Given the description of an element on the screen output the (x, y) to click on. 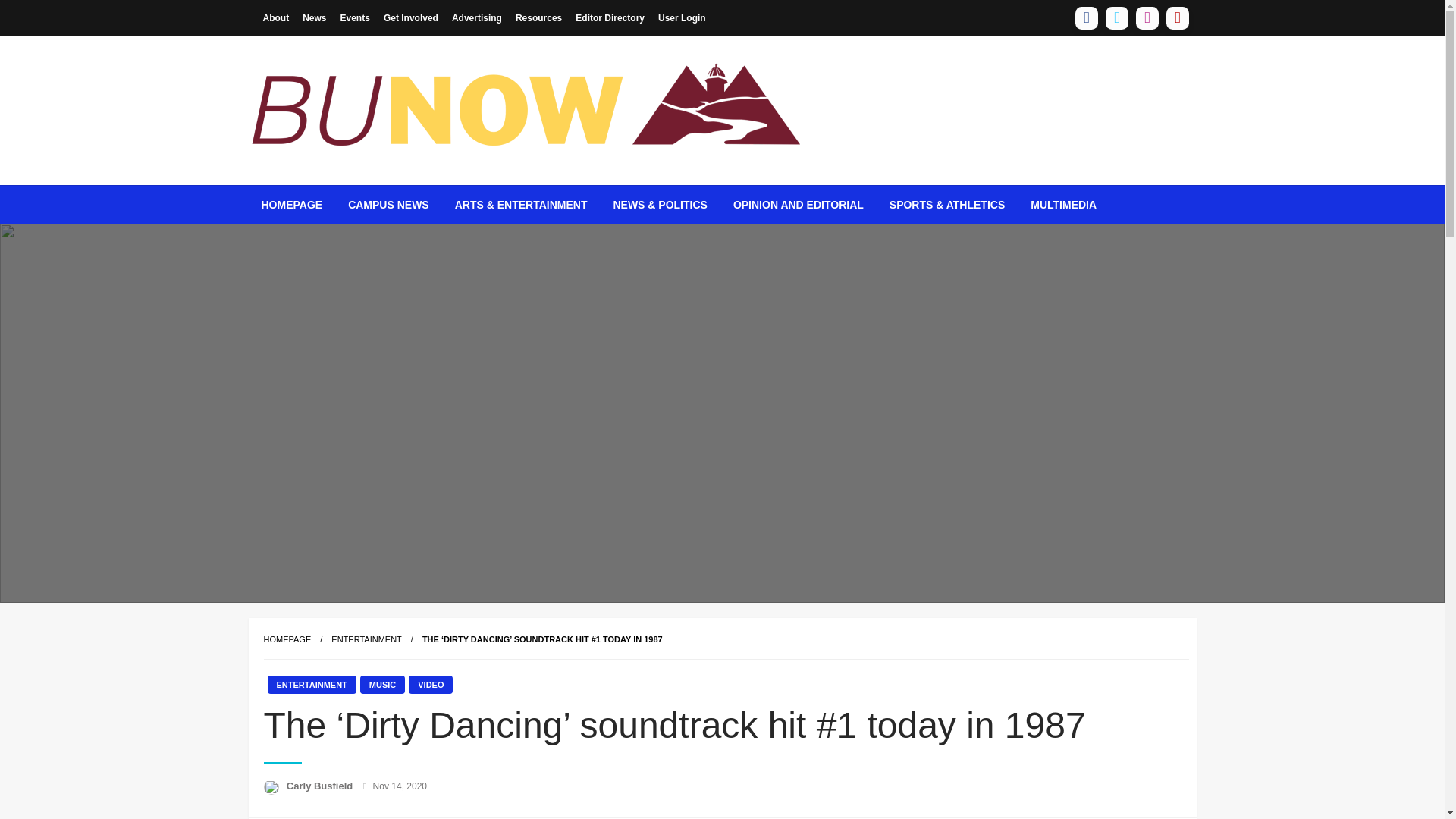
Resources (538, 17)
Events (355, 17)
ENTERTAINMENT (310, 684)
MULTIMEDIA (1063, 204)
User Login (681, 17)
OPINION AND EDITORIAL (798, 204)
HOMEPAGE (287, 638)
BUnow News (339, 196)
Entertainment (366, 638)
About (276, 17)
Get Involved (411, 17)
Carly Busfield (320, 785)
MUSIC (381, 684)
VIDEO (430, 684)
Advertising (476, 17)
